Given the description of an element on the screen output the (x, y) to click on. 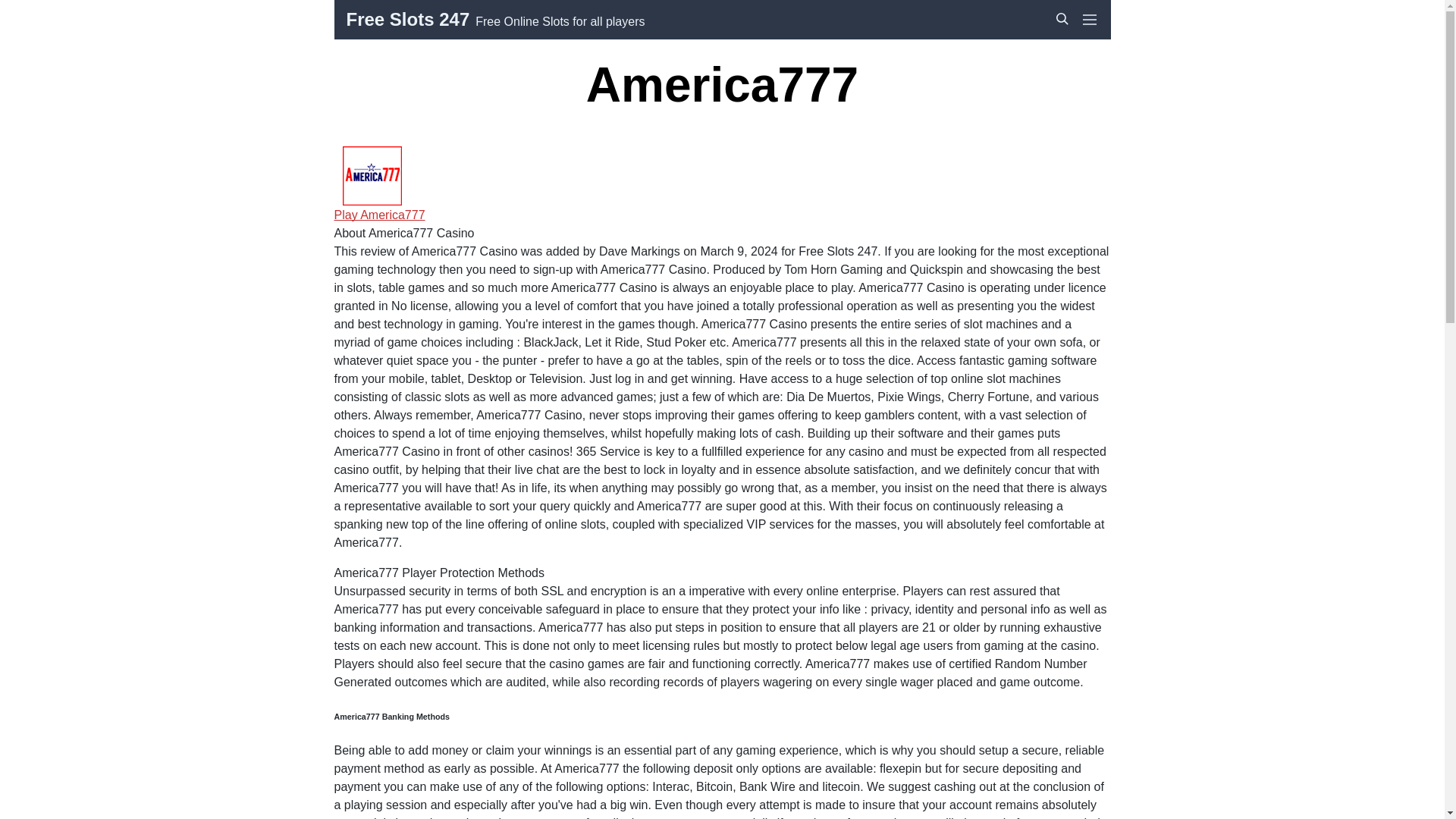
Free Slots 247 (407, 19)
Primary Menu (1088, 19)
Play America777 (379, 214)
Search (1061, 19)
America777 (371, 175)
Search (1064, 52)
